Given the description of an element on the screen output the (x, y) to click on. 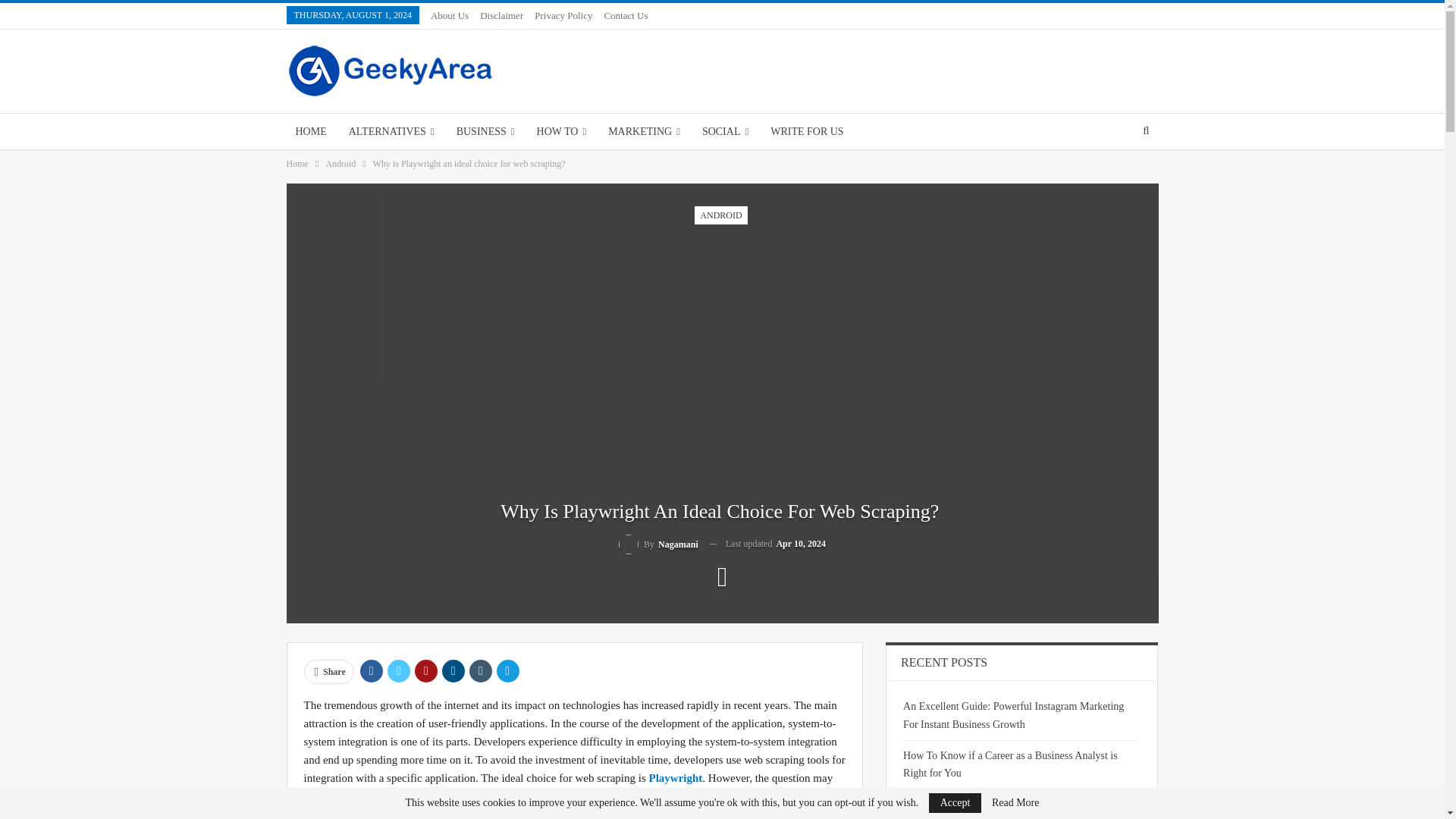
HOW TO (561, 131)
Privacy Policy (563, 15)
SOCIAL (725, 131)
MARKETING (643, 131)
BUSINESS (485, 131)
Disclaimer (501, 15)
HOME (311, 131)
About Us (449, 15)
WRITE FOR US (806, 131)
ALTERNATIVES (391, 131)
Browse Author Articles (658, 543)
Contact Us (625, 15)
